Given the description of an element on the screen output the (x, y) to click on. 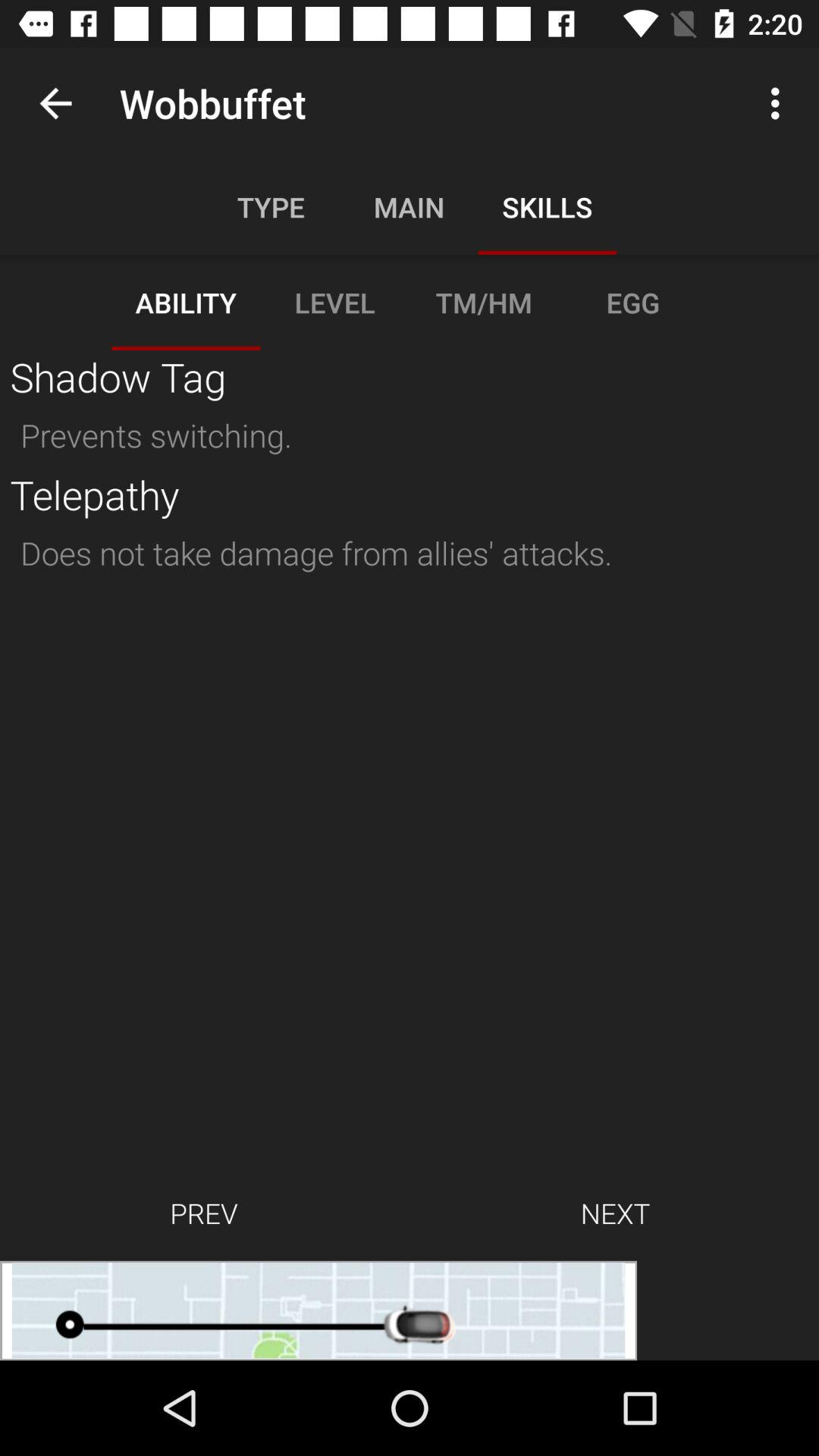
click on the 3 vertical dots at the top right corner of the page (779, 103)
click the button next on the web page (615, 1213)
